Given the description of an element on the screen output the (x, y) to click on. 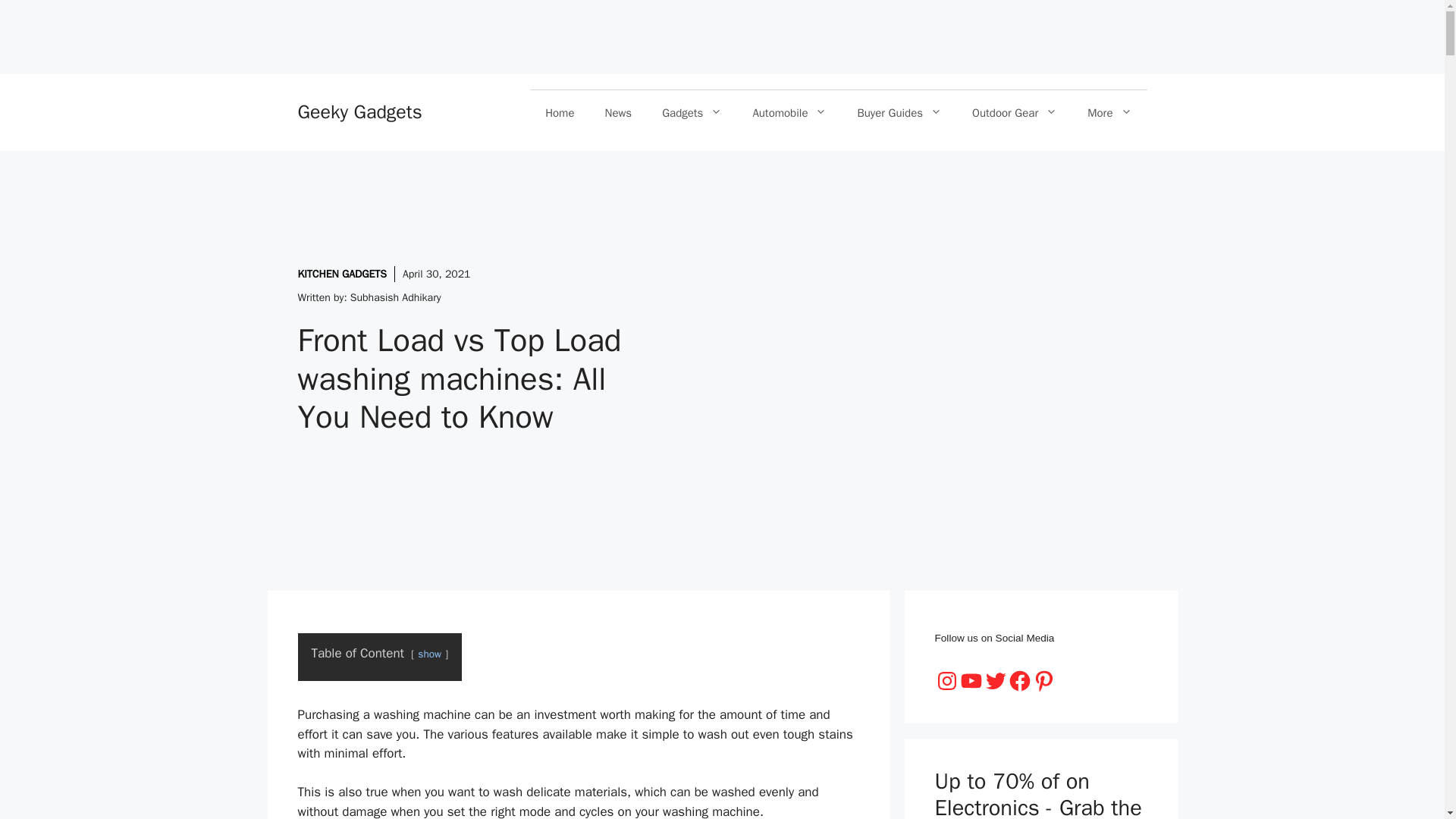
Buyer Guides (898, 112)
show (429, 653)
Outdoor Gear (1013, 112)
News (618, 112)
More (1109, 112)
Geeky Gadgets (359, 111)
KITCHEN GADGETS (341, 273)
Gadgets (691, 112)
Automobile (788, 112)
Home (559, 112)
